Given the description of an element on the screen output the (x, y) to click on. 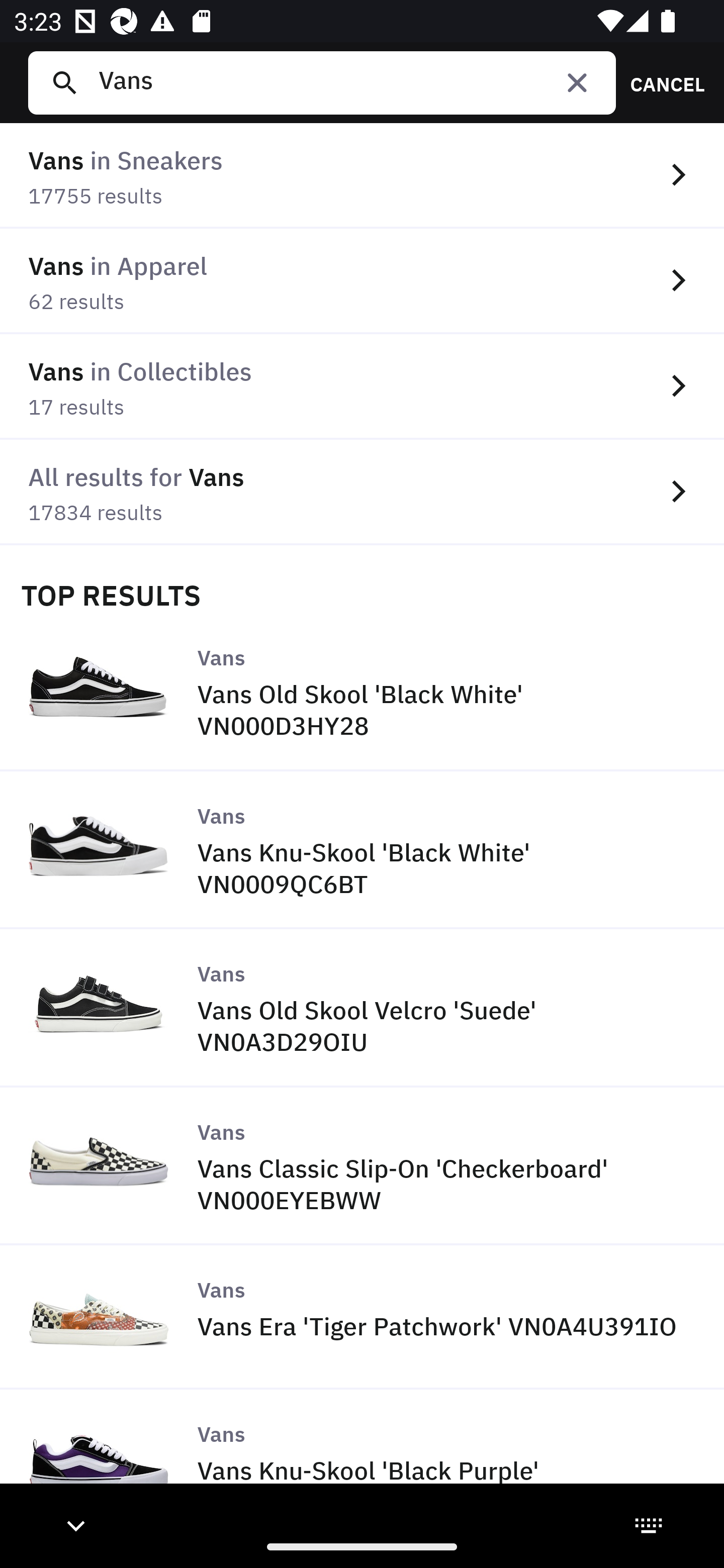
CANCEL (660, 82)
Vans (349, 82)
 (577, 82)
Vans  in Sneakers 17755 results  (362, 175)
Vans  in Apparel 62 results  (362, 280)
Vans  in Collectibles 17 results  (362, 386)
All results for  Vans 17834 results  (362, 492)
Vans Vans Old Skool 'Black White' VN000D3HY28 (362, 692)
Vans Vans Knu‑Skool 'Black White' VN0009QC6BT (362, 850)
Vans Vans Old Skool Velcro 'Suede' VN0A3D29OIU (362, 1008)
Vans Vans Era 'Tiger Patchwork' VN0A4U391IO (362, 1316)
Vans Vans Knu‑Skool 'Black Purple' VN0009QCB5P (362, 1457)
